Given the description of an element on the screen output the (x, y) to click on. 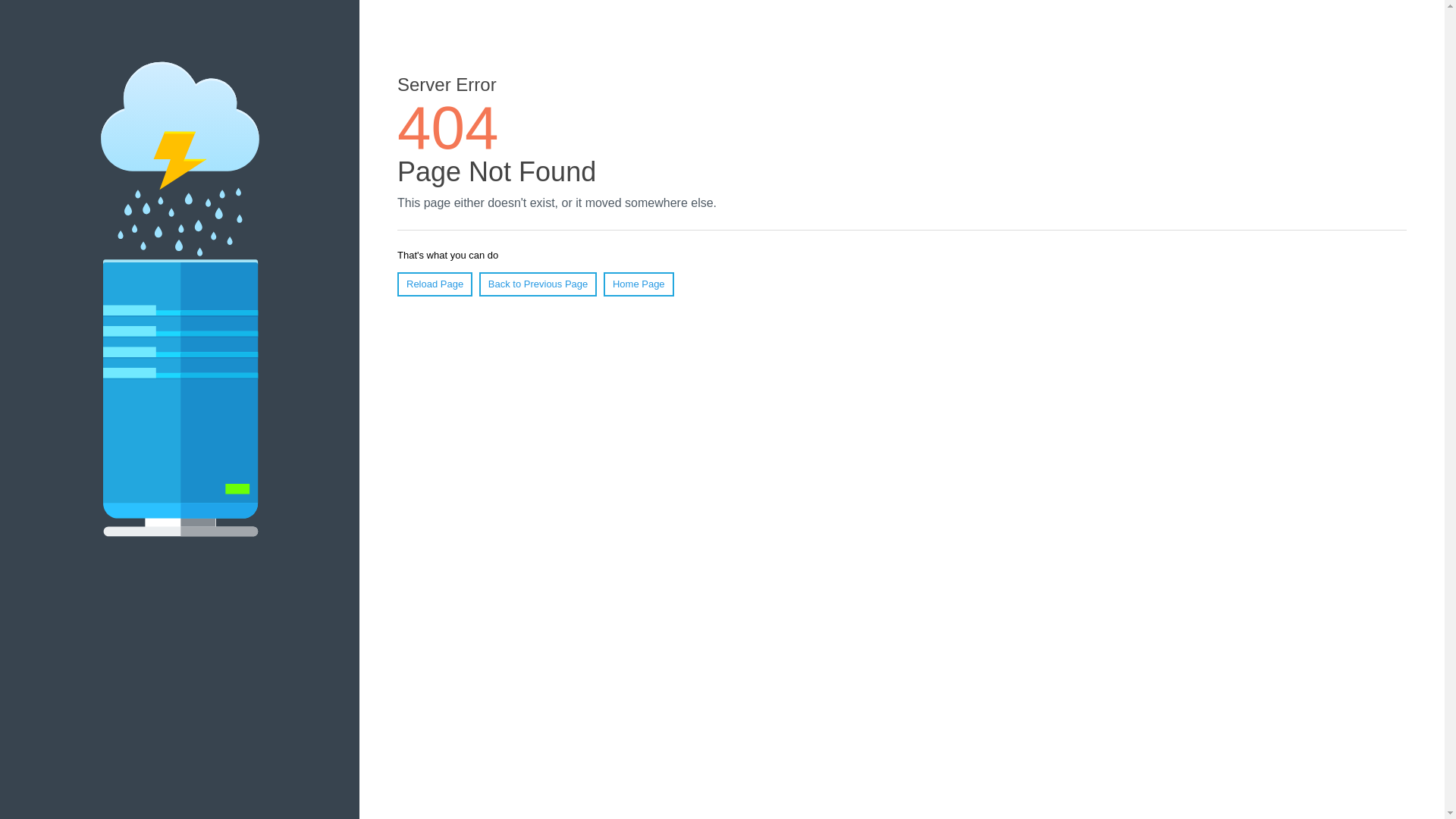
Reload Page Element type: text (434, 284)
Home Page Element type: text (638, 284)
Back to Previous Page Element type: text (538, 284)
